Given the description of an element on the screen output the (x, y) to click on. 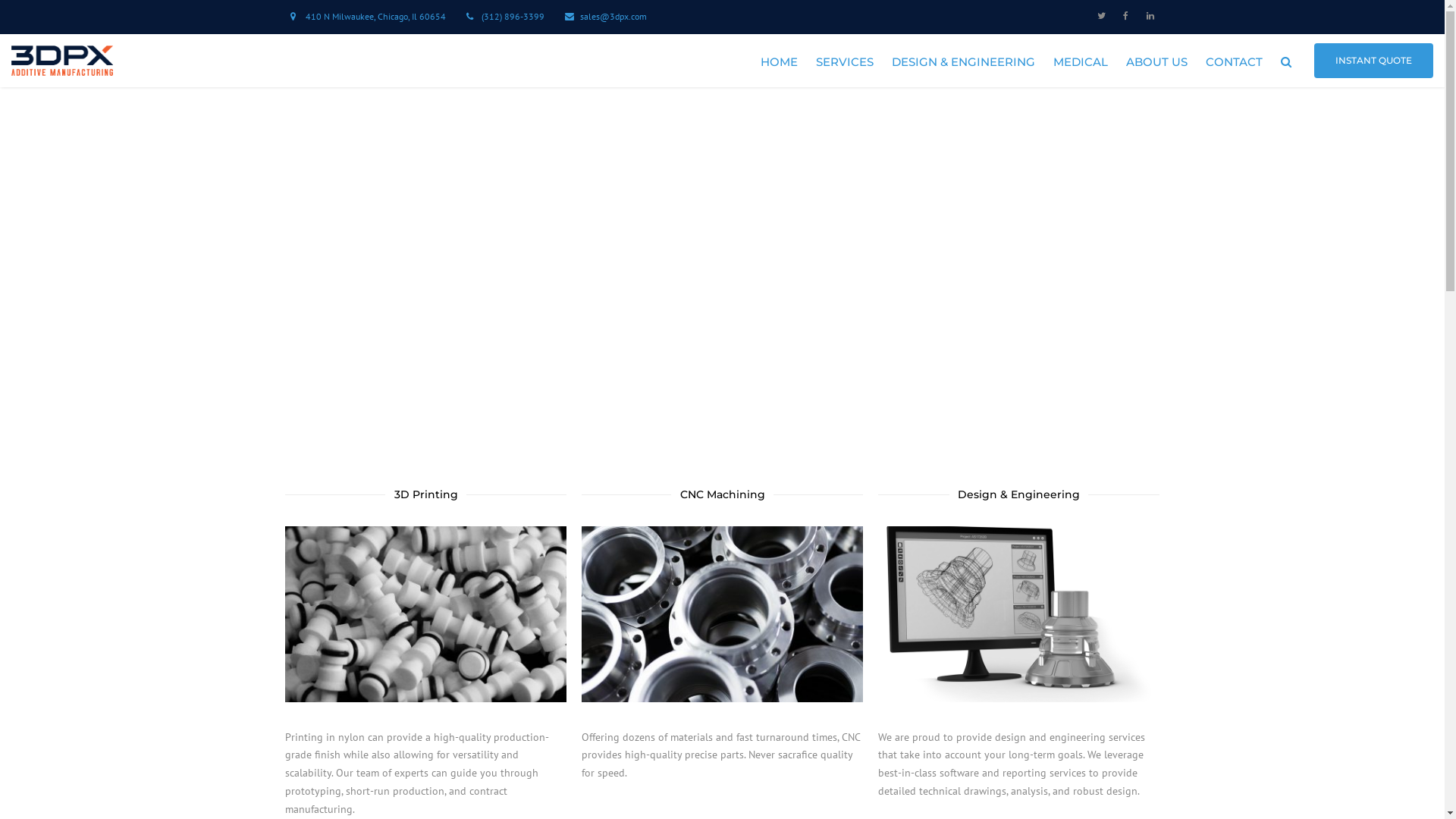
Koyo Pile Edited Element type: hover (425, 614)
INSTANT QUOTE Element type: text (1373, 60)
HOME Element type: text (779, 61)
ABOUT US Element type: text (1156, 61)
(312) 896-3399 Element type: text (511, 15)
MEDICAL Element type: text (1080, 61)
sales@3dpx.com Element type: text (612, 15)
SERVICES Element type: text (844, 61)
CONTACT Element type: text (1234, 61)
DESIGN & ENGINEERING Element type: text (963, 61)
cad-design_sample Element type: hover (1018, 614)
